Given the description of an element on the screen output the (x, y) to click on. 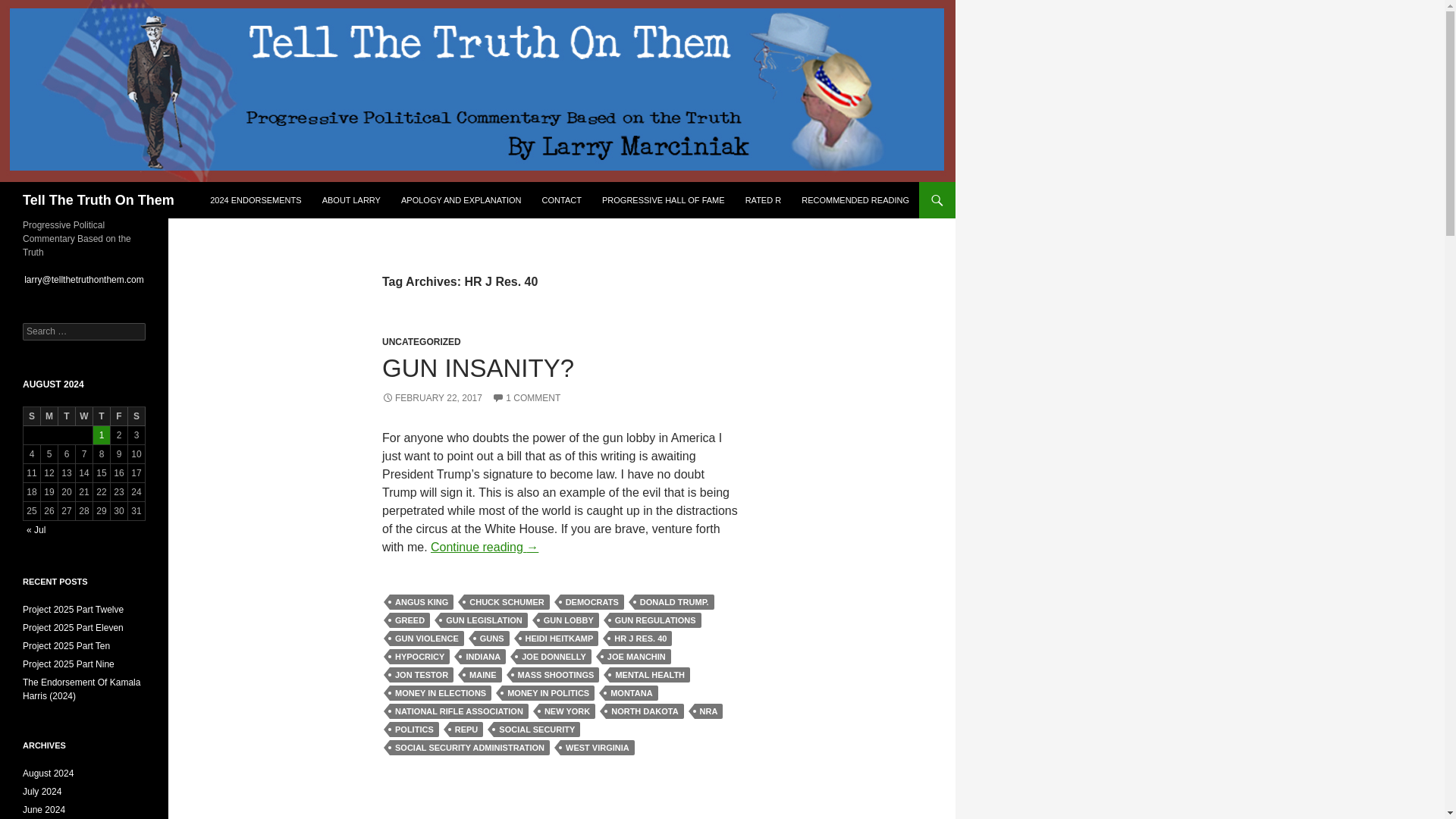
Friday (119, 416)
Sunday (31, 416)
GUN VIOLENCE (427, 638)
APOLOGY AND EXPLANATION (461, 199)
CHUCK SCHUMER (506, 601)
Wednesday (84, 416)
GREED (409, 620)
DEMOCRATS (592, 601)
UNCATEGORIZED (421, 341)
MENTAL HEALTH (650, 674)
HR J RES. 40 (639, 638)
RECOMMENDED READING (855, 199)
GUN REGULATIONS (655, 620)
GUN LEGISLATION (484, 620)
